Given the description of an element on the screen output the (x, y) to click on. 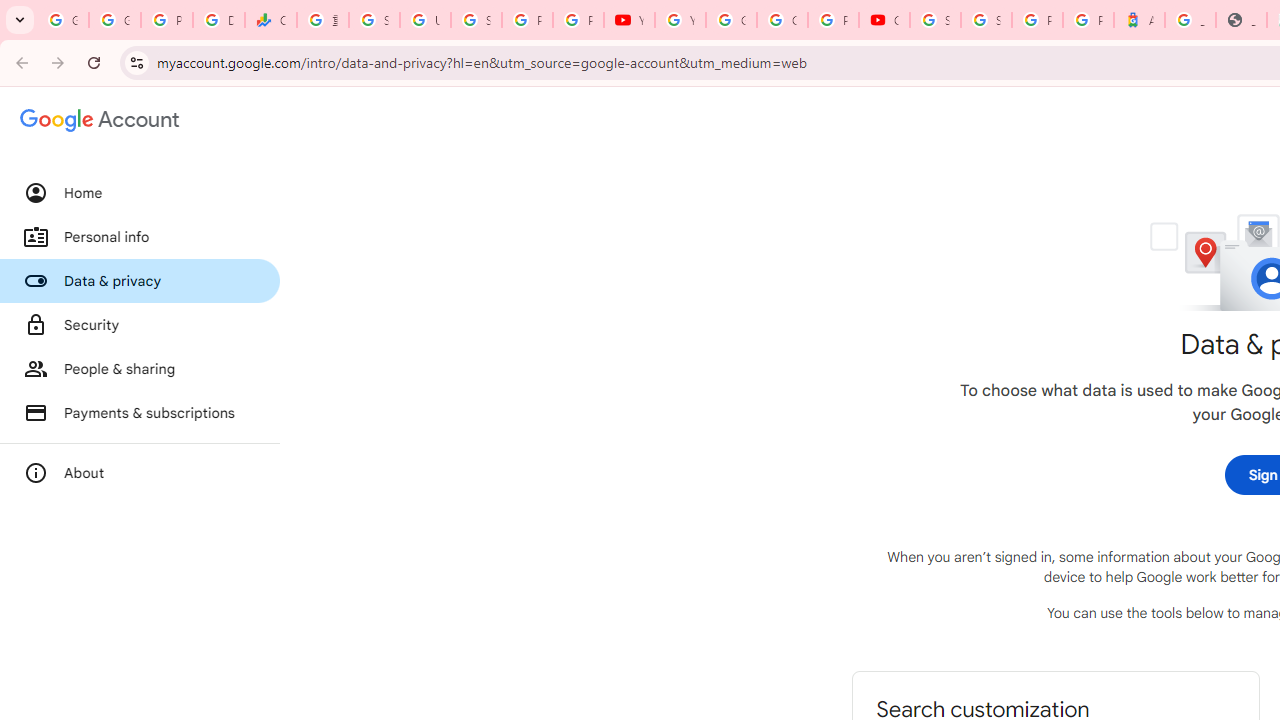
Google Account settings (100, 120)
YouTube (629, 20)
Currencies - Google Finance (270, 20)
Data & privacy (140, 281)
Create your Google Account (781, 20)
People & sharing (140, 368)
Google Workspace Admin Community (63, 20)
Privacy Checkup (578, 20)
